Given the description of an element on the screen output the (x, y) to click on. 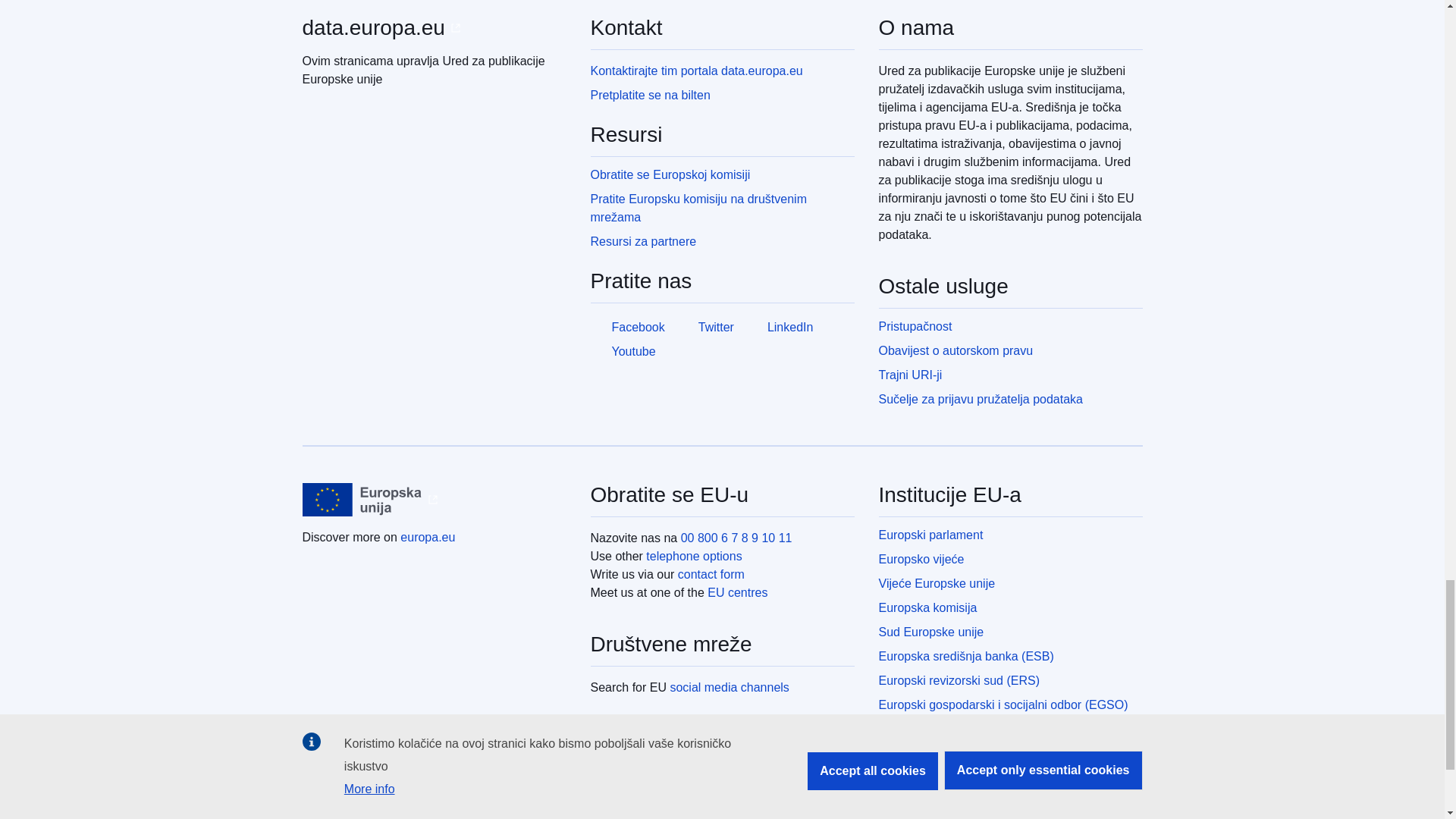
European Union (361, 499)
